Given the description of an element on the screen output the (x, y) to click on. 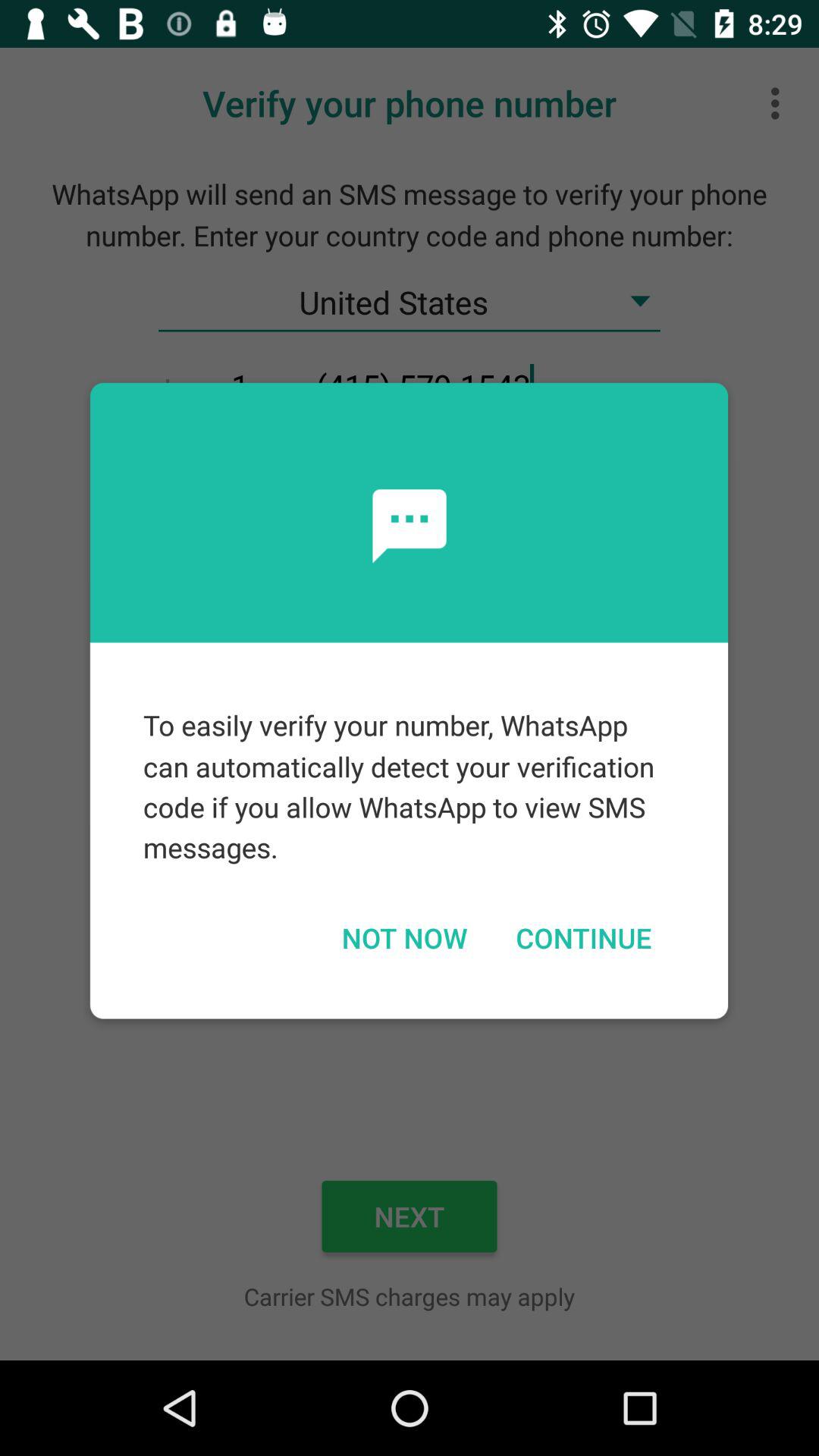
turn off icon below to easily verify (583, 937)
